Given the description of an element on the screen output the (x, y) to click on. 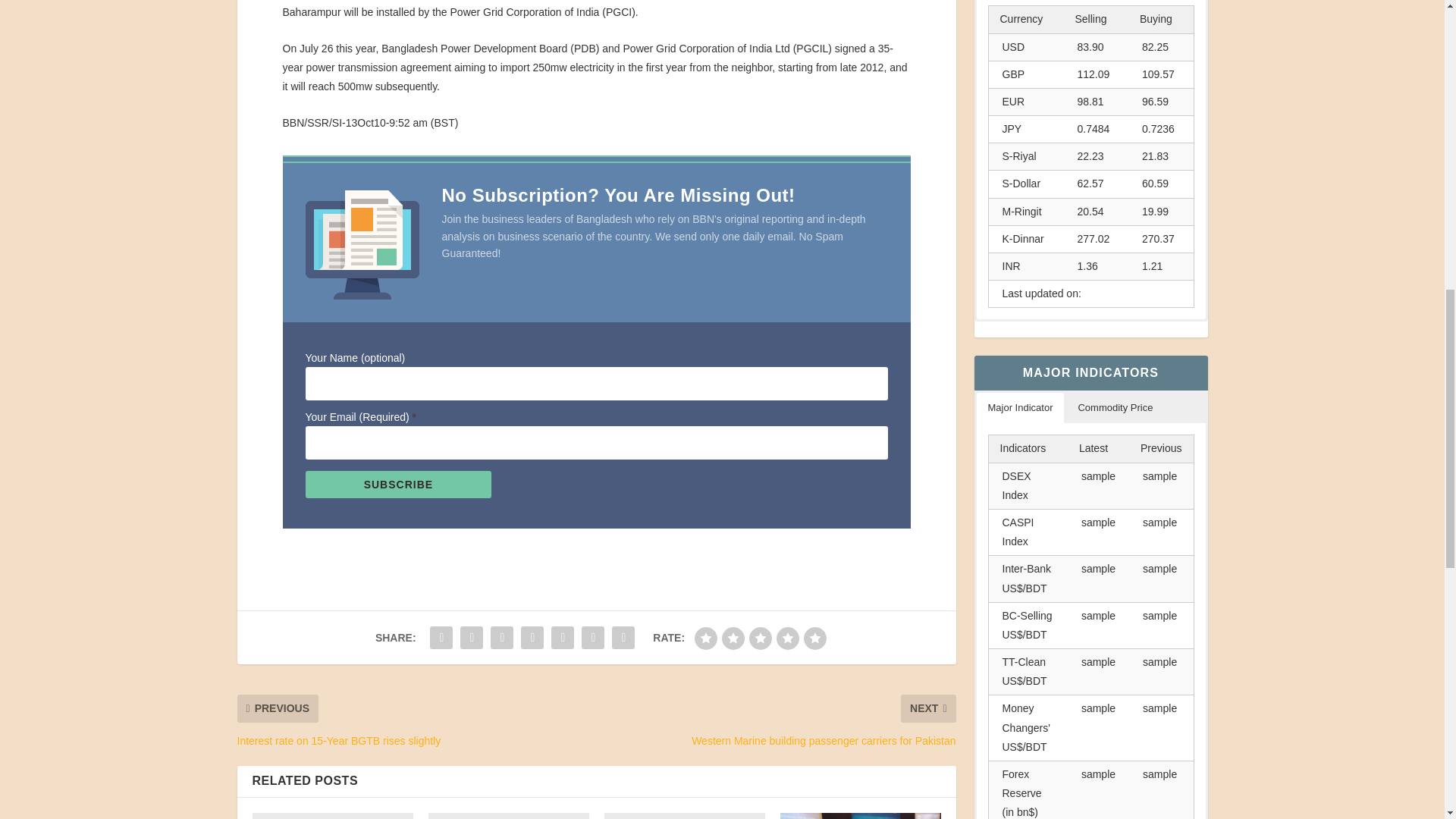
gorgeous (815, 638)
regular (760, 638)
good (787, 638)
poor (733, 638)
bad (705, 638)
